Given the description of an element on the screen output the (x, y) to click on. 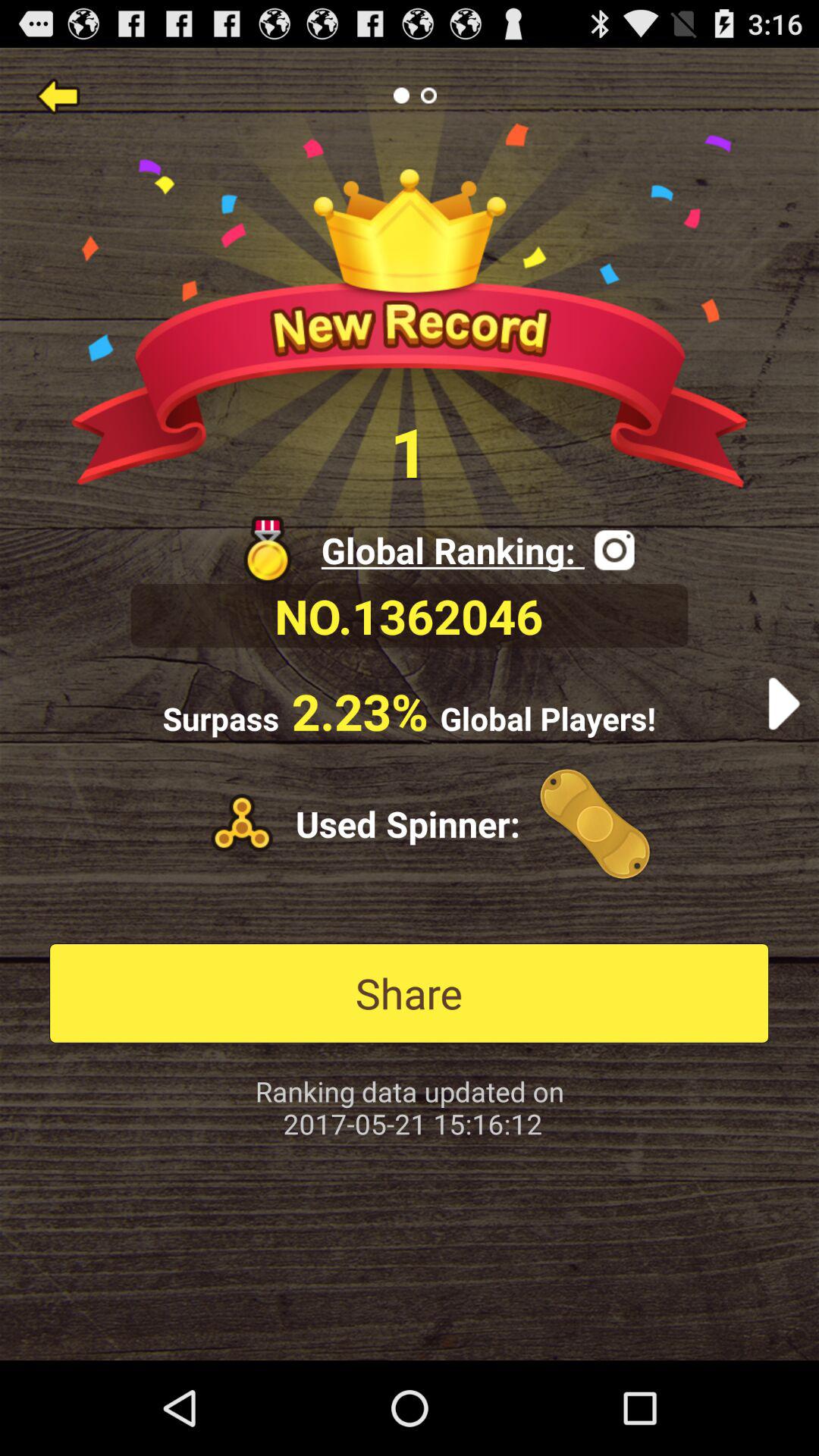
go back (57, 95)
